Given the description of an element on the screen output the (x, y) to click on. 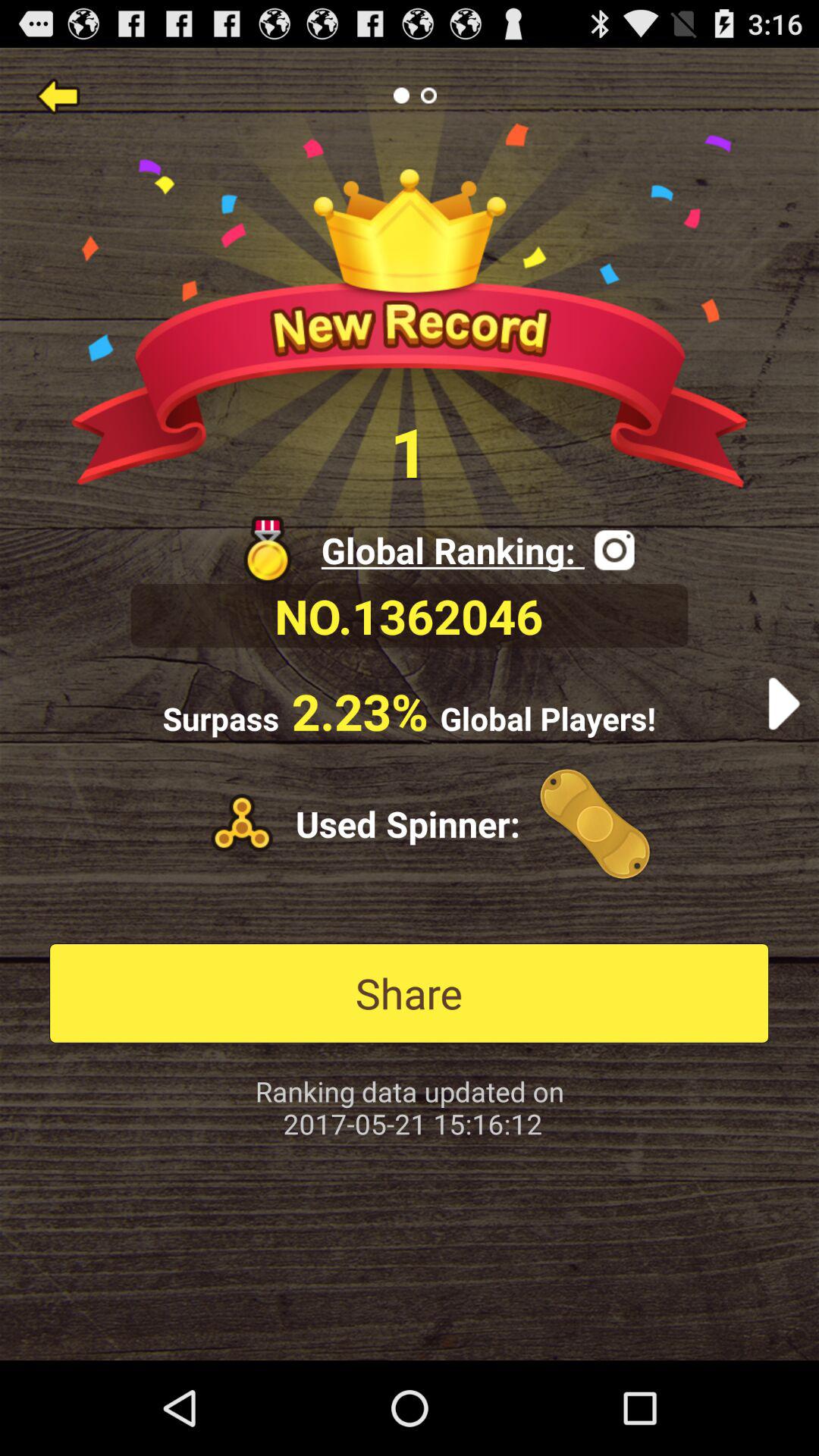
go back (57, 95)
